Given the description of an element on the screen output the (x, y) to click on. 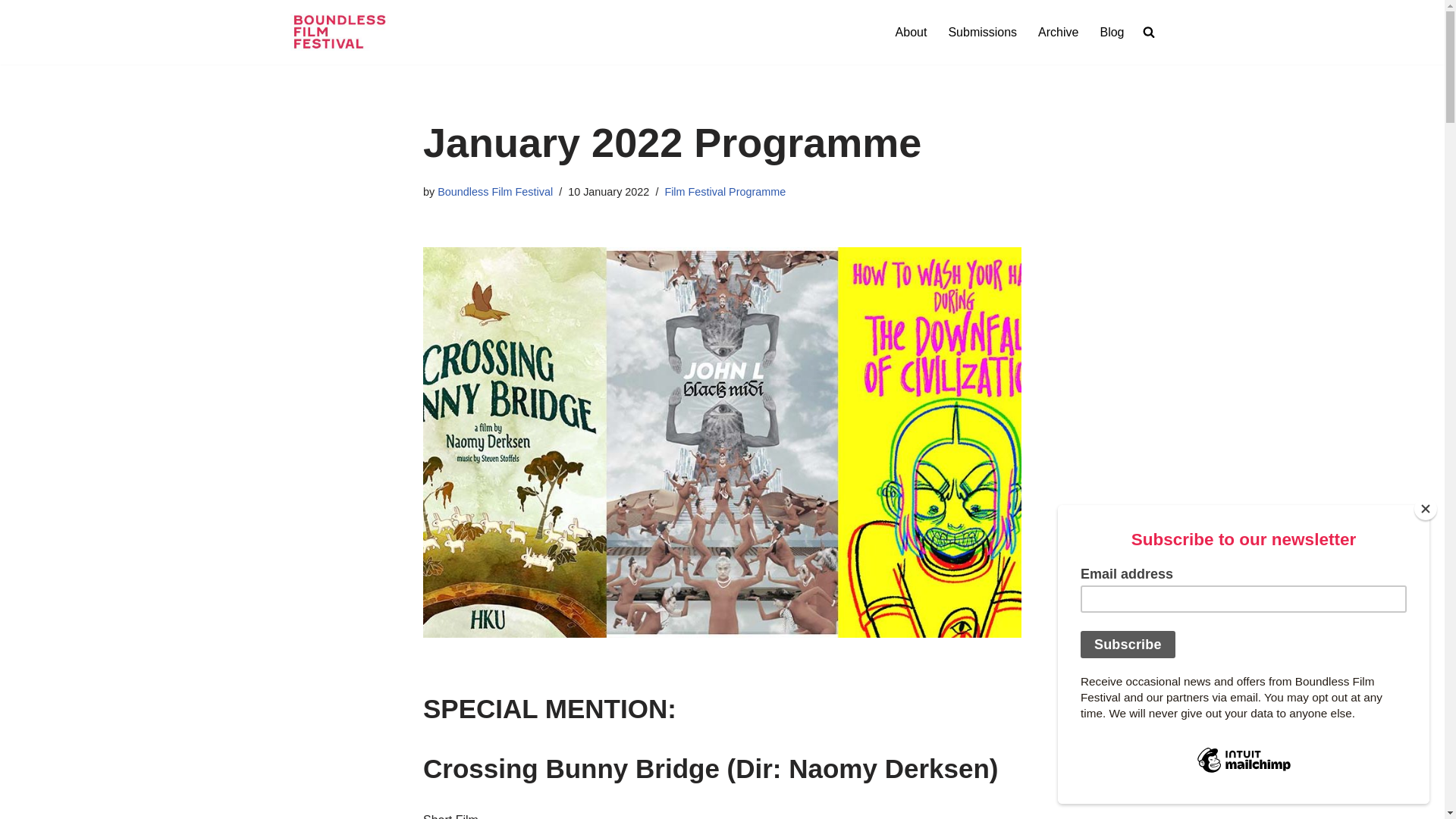
Boundless Film Festival (495, 191)
Blog (1111, 32)
About (911, 32)
Posts by Boundless Film Festival (495, 191)
Submissions (981, 32)
Film Festival Programme (724, 191)
Skip to content (11, 31)
Archive (1058, 32)
